Given the description of an element on the screen output the (x, y) to click on. 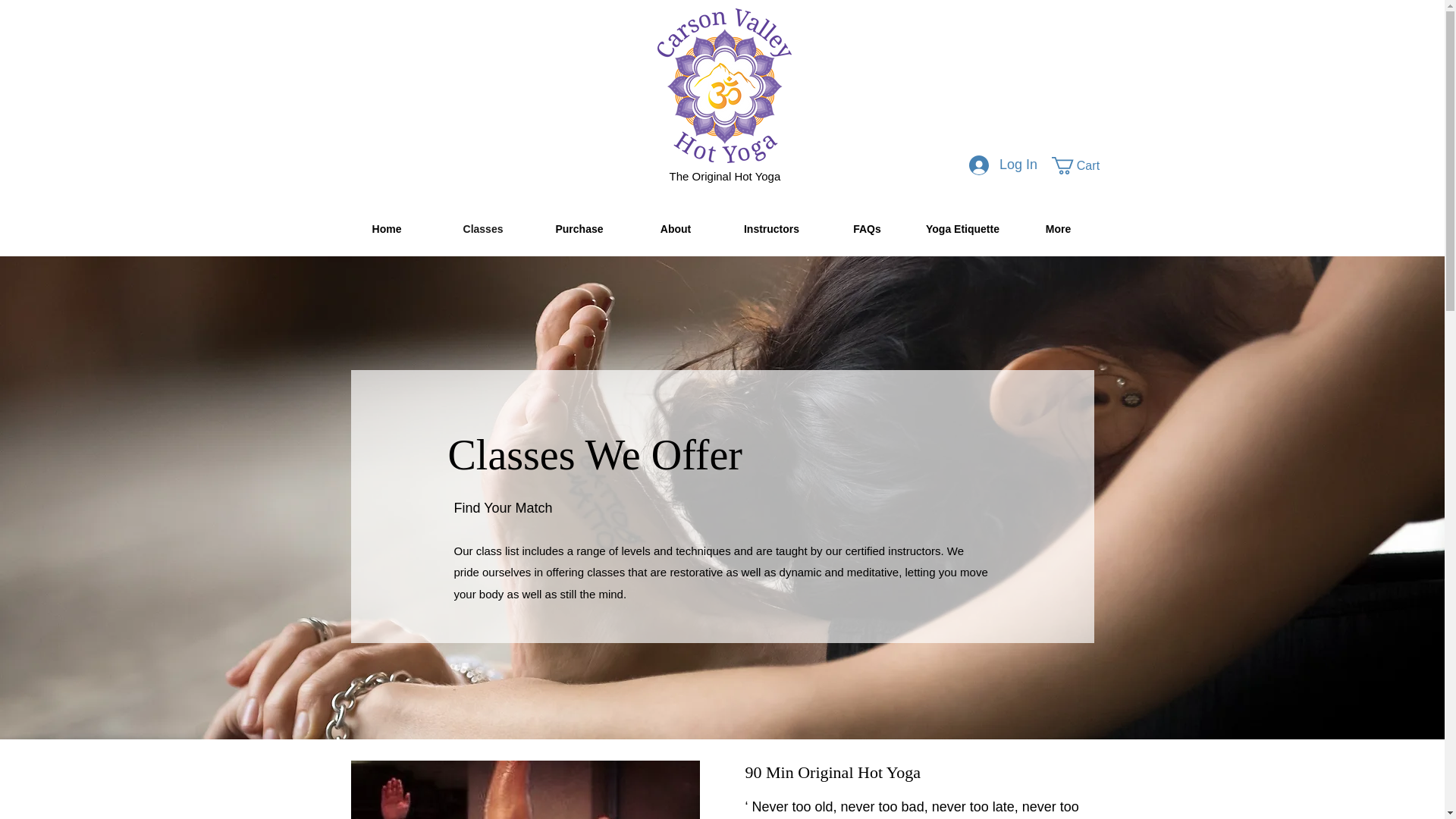
FAQs (866, 228)
Instructors (770, 228)
Log In (1003, 164)
Cart (1083, 165)
Yoga Etiquette (962, 228)
Cart (1083, 165)
Home (385, 228)
Purchase (579, 228)
About (675, 228)
Classes (483, 228)
